Given the description of an element on the screen output the (x, y) to click on. 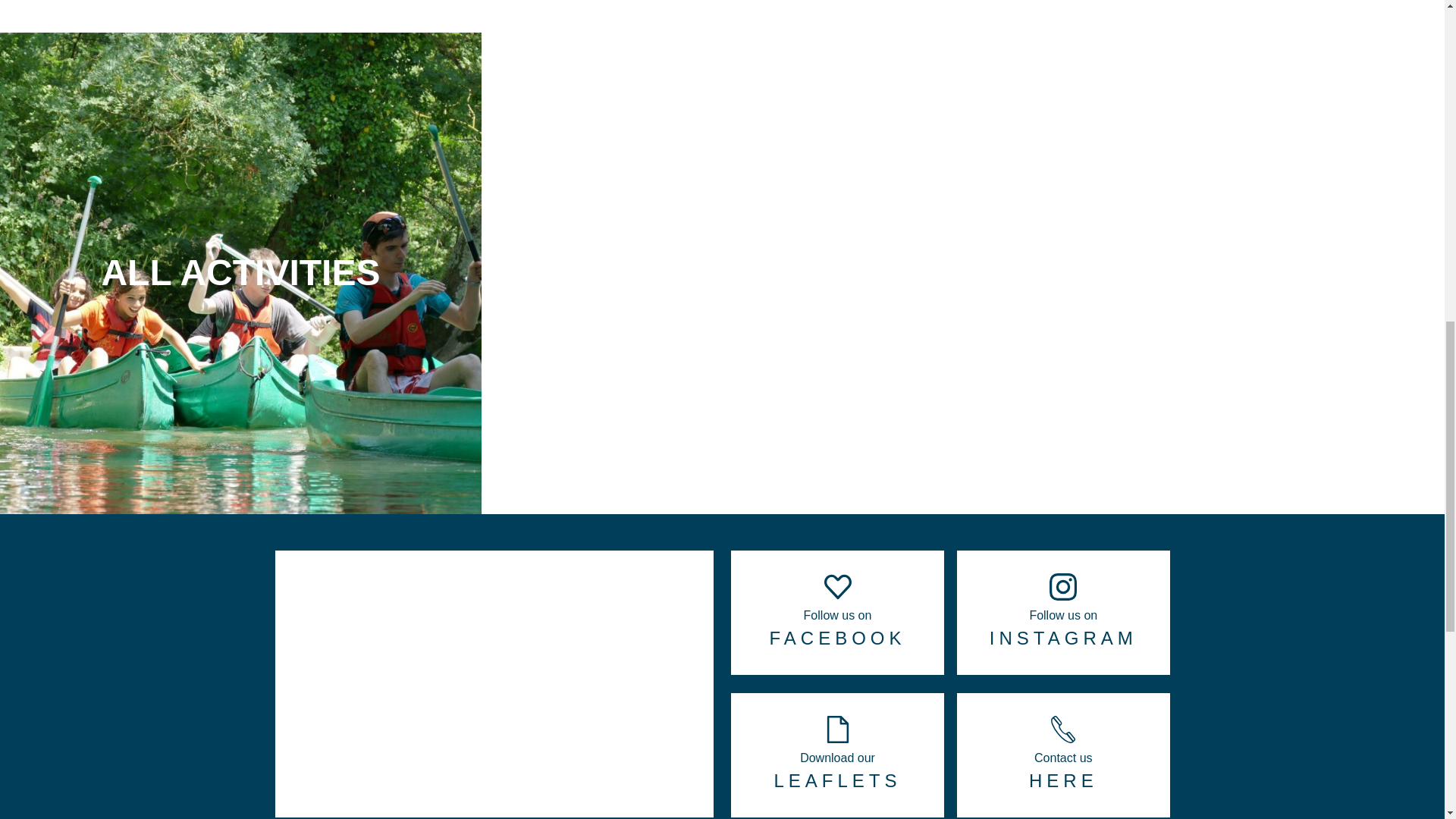
ALL ACTIVITIES (240, 41)
